Given the description of an element on the screen output the (x, y) to click on. 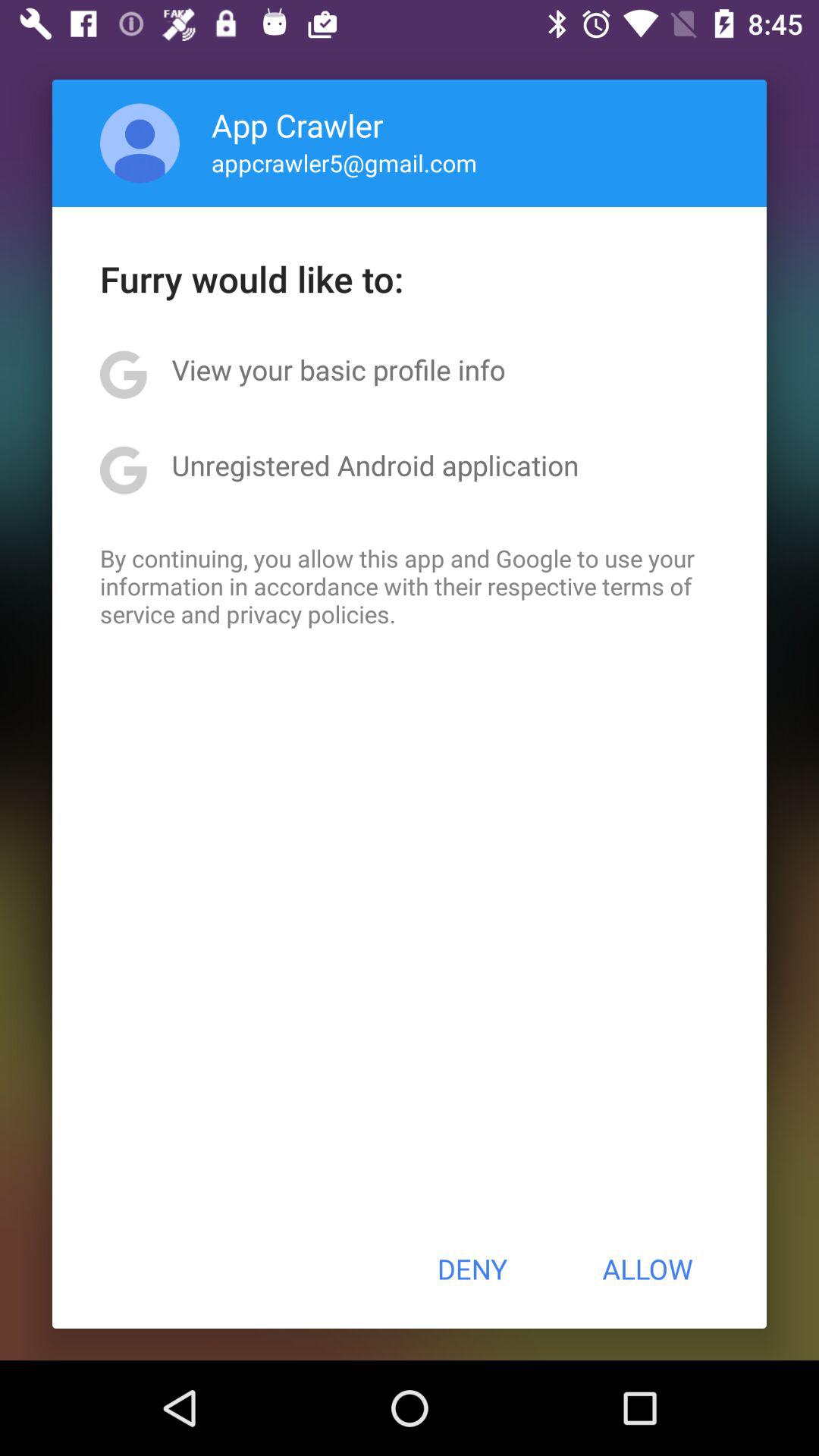
choose app above the appcrawler5@gmail.com icon (297, 124)
